Given the description of an element on the screen output the (x, y) to click on. 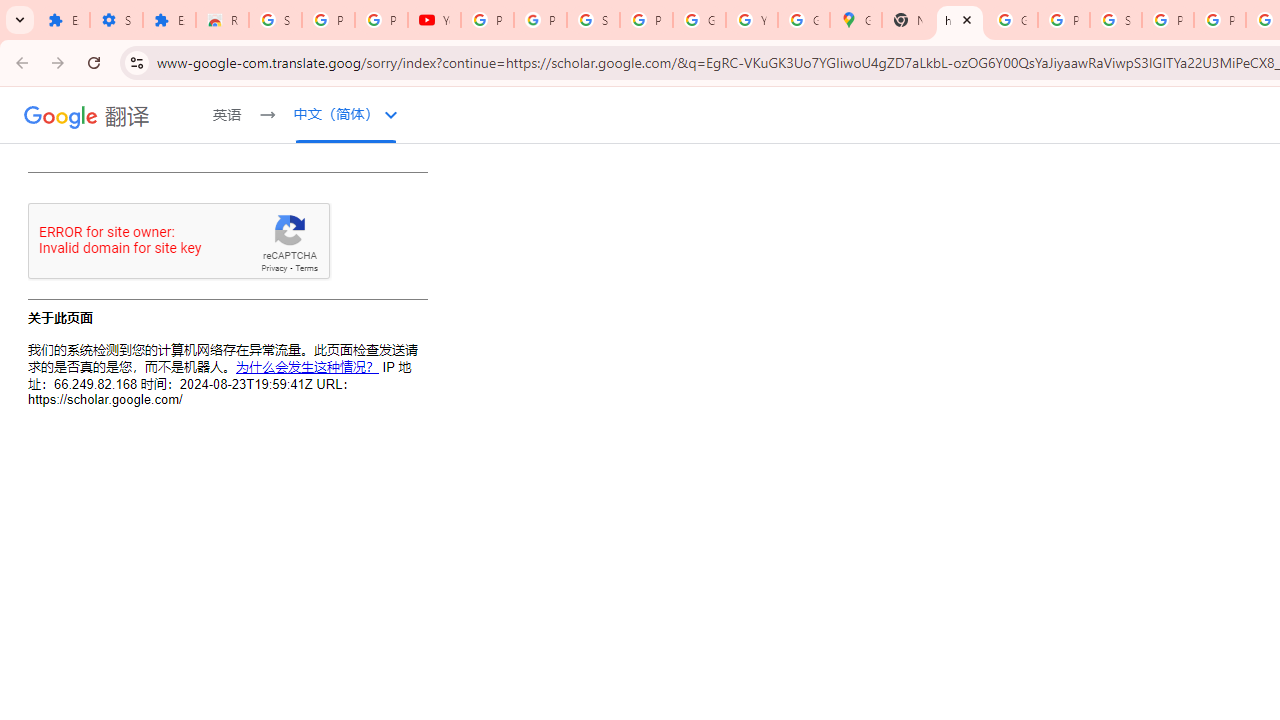
YouTube (434, 20)
Extensions (169, 20)
Google Account (699, 20)
Sign in - Google Accounts (275, 20)
Settings (116, 20)
Google (61, 116)
Reviews: Helix Fruit Jump Arcade Game (222, 20)
